Given the description of an element on the screen output the (x, y) to click on. 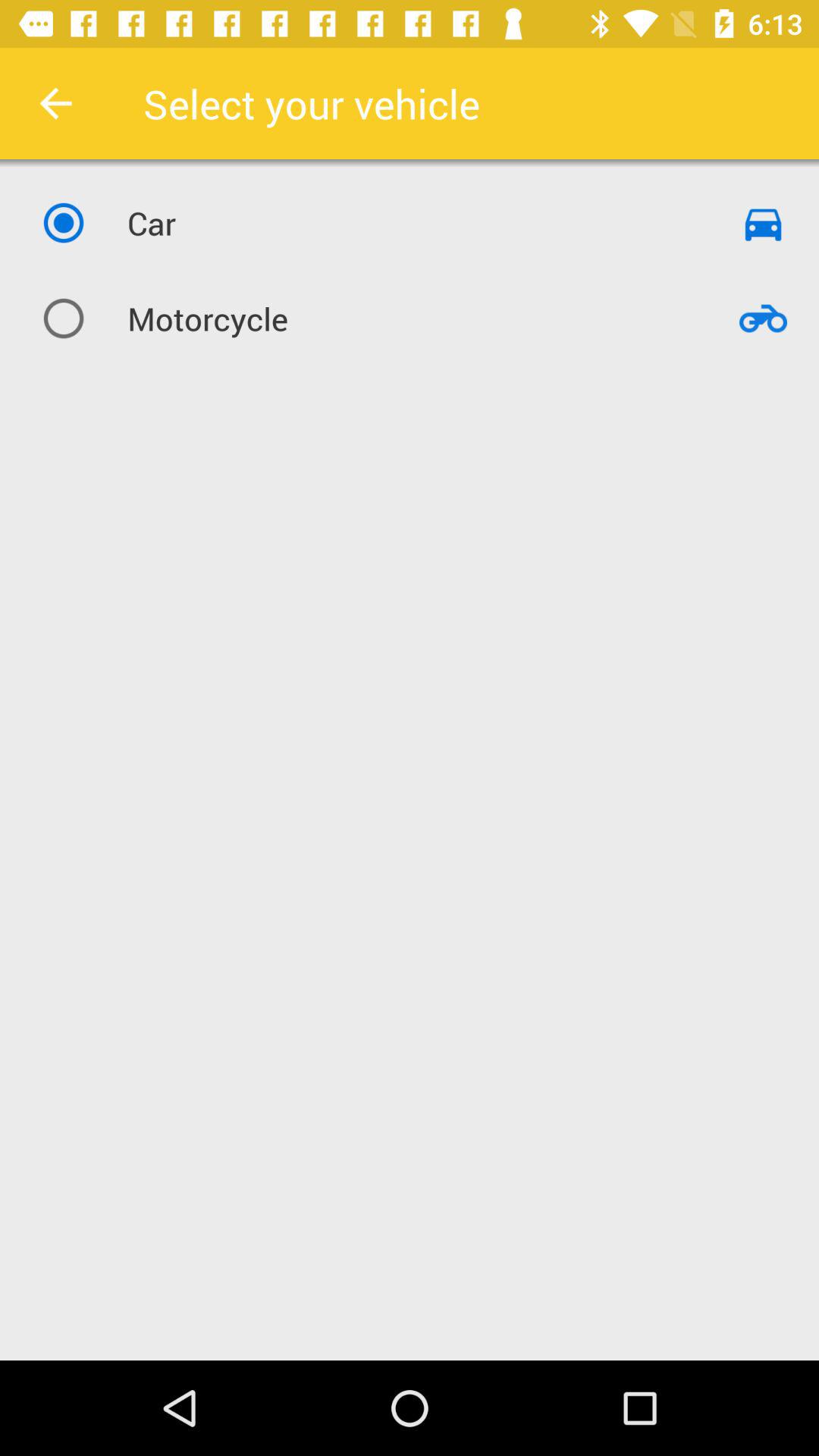
select the item next to the select your vehicle item (55, 103)
